Given the description of an element on the screen output the (x, y) to click on. 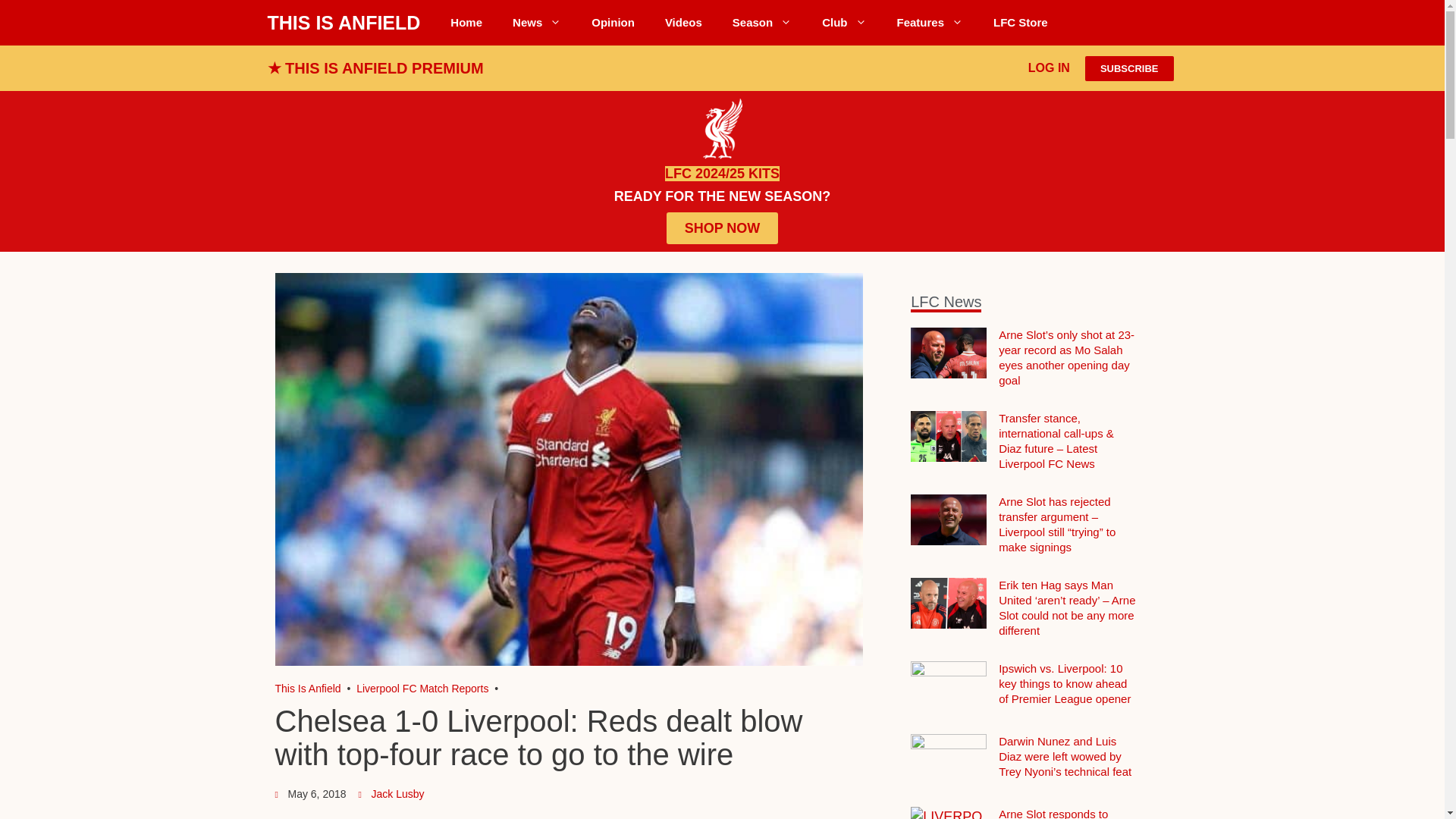
Opinion (612, 22)
Season (761, 22)
Videos (683, 22)
Liverpool FC Videos (683, 22)
Home (466, 22)
Go to the Liverpool FC Match Reports category archives. (421, 688)
Features (929, 22)
THIS IS ANFIELD (343, 22)
Liverpool FC Features (929, 22)
Liverpool FC (307, 688)
